Given the description of an element on the screen output the (x, y) to click on. 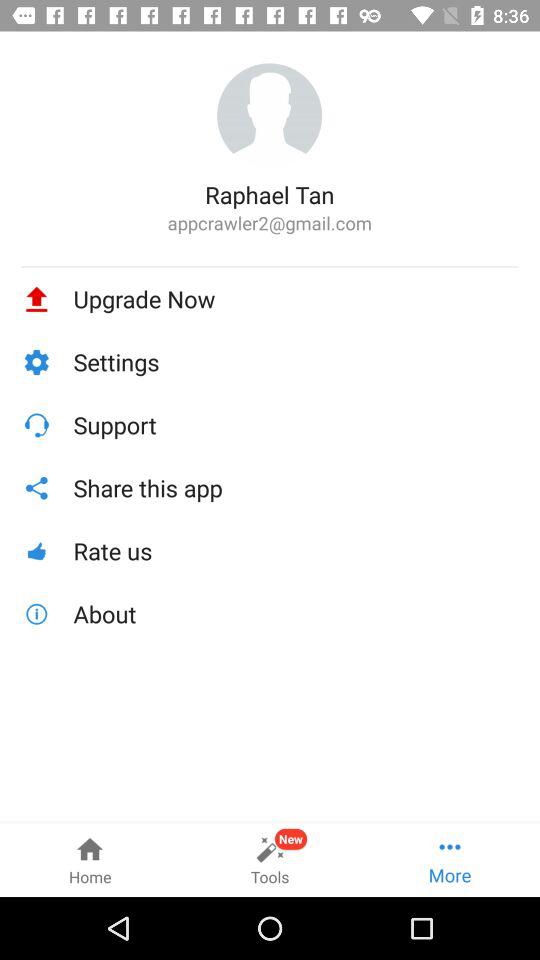
scroll until rate us (296, 550)
